Given the description of an element on the screen output the (x, y) to click on. 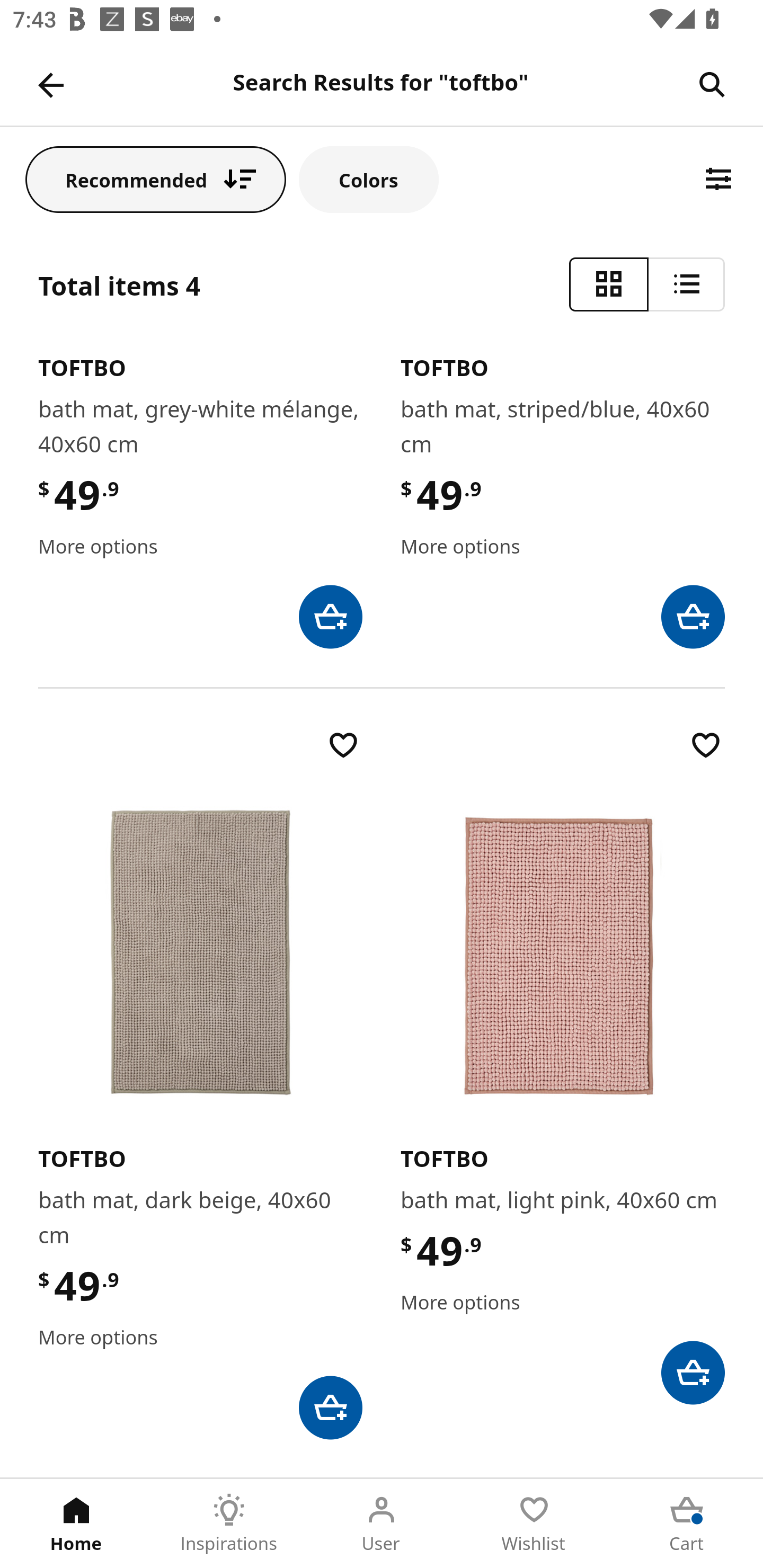
Recommended (155, 179)
Colors (368, 179)
Home
Tab 1 of 5 (76, 1522)
Inspirations
Tab 2 of 5 (228, 1522)
User
Tab 3 of 5 (381, 1522)
Wishlist
Tab 4 of 5 (533, 1522)
Cart
Tab 5 of 5 (686, 1522)
